Given the description of an element on the screen output the (x, y) to click on. 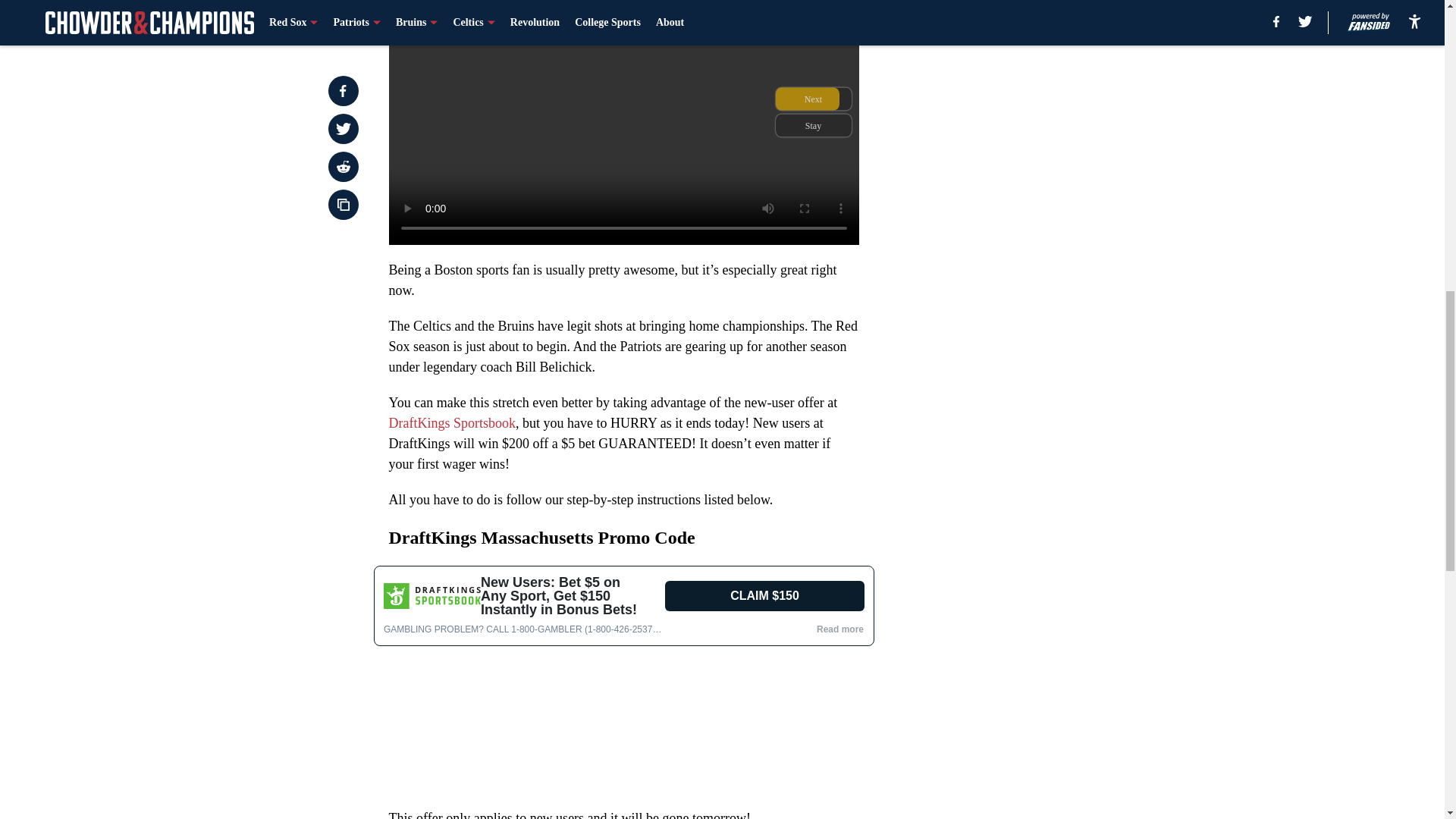
DraftKings Sportsbook (451, 422)
tallysight (622, 679)
